Given the description of an element on the screen output the (x, y) to click on. 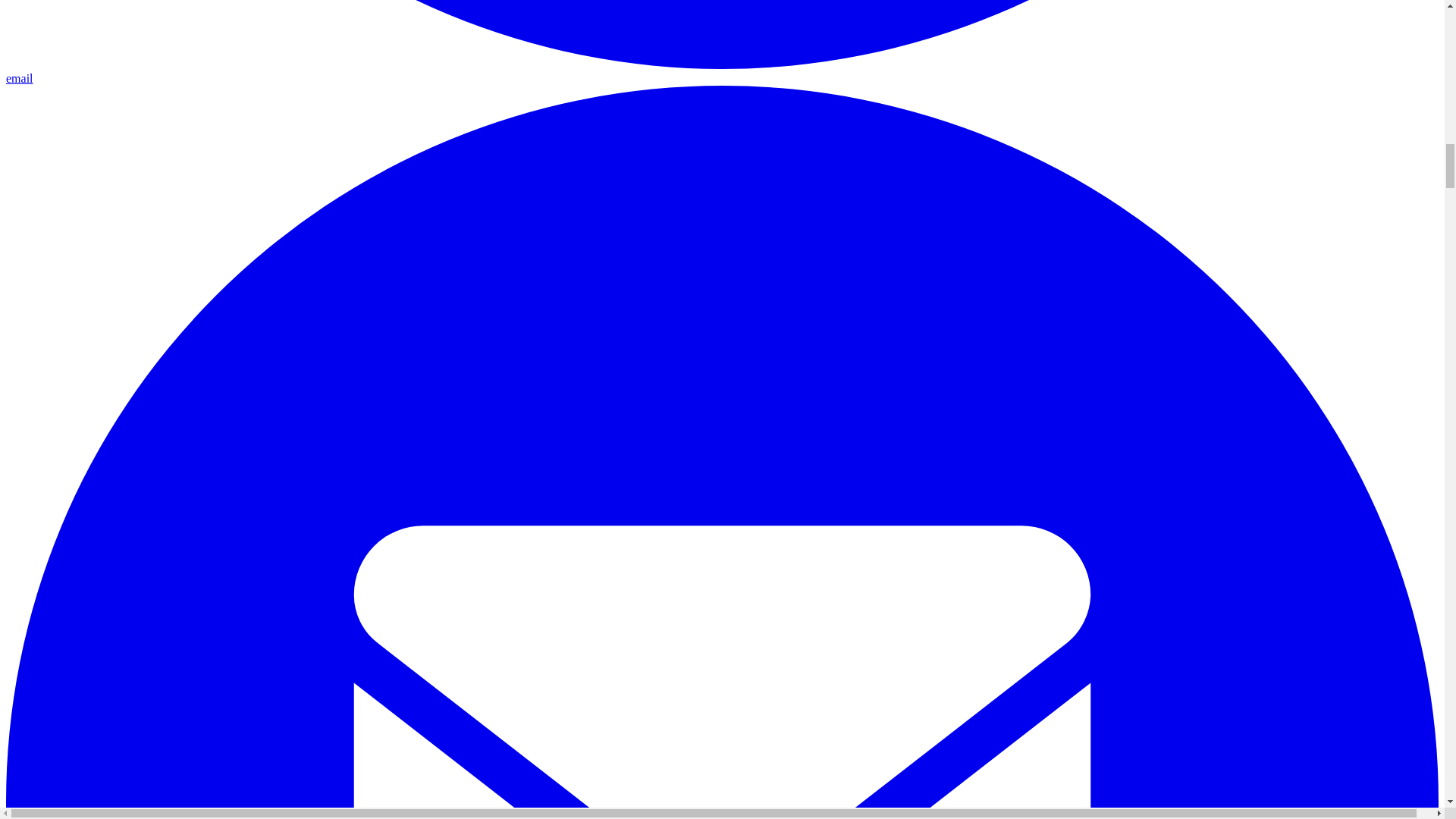
LinkedIn (721, 35)
